Given the description of an element on the screen output the (x, y) to click on. 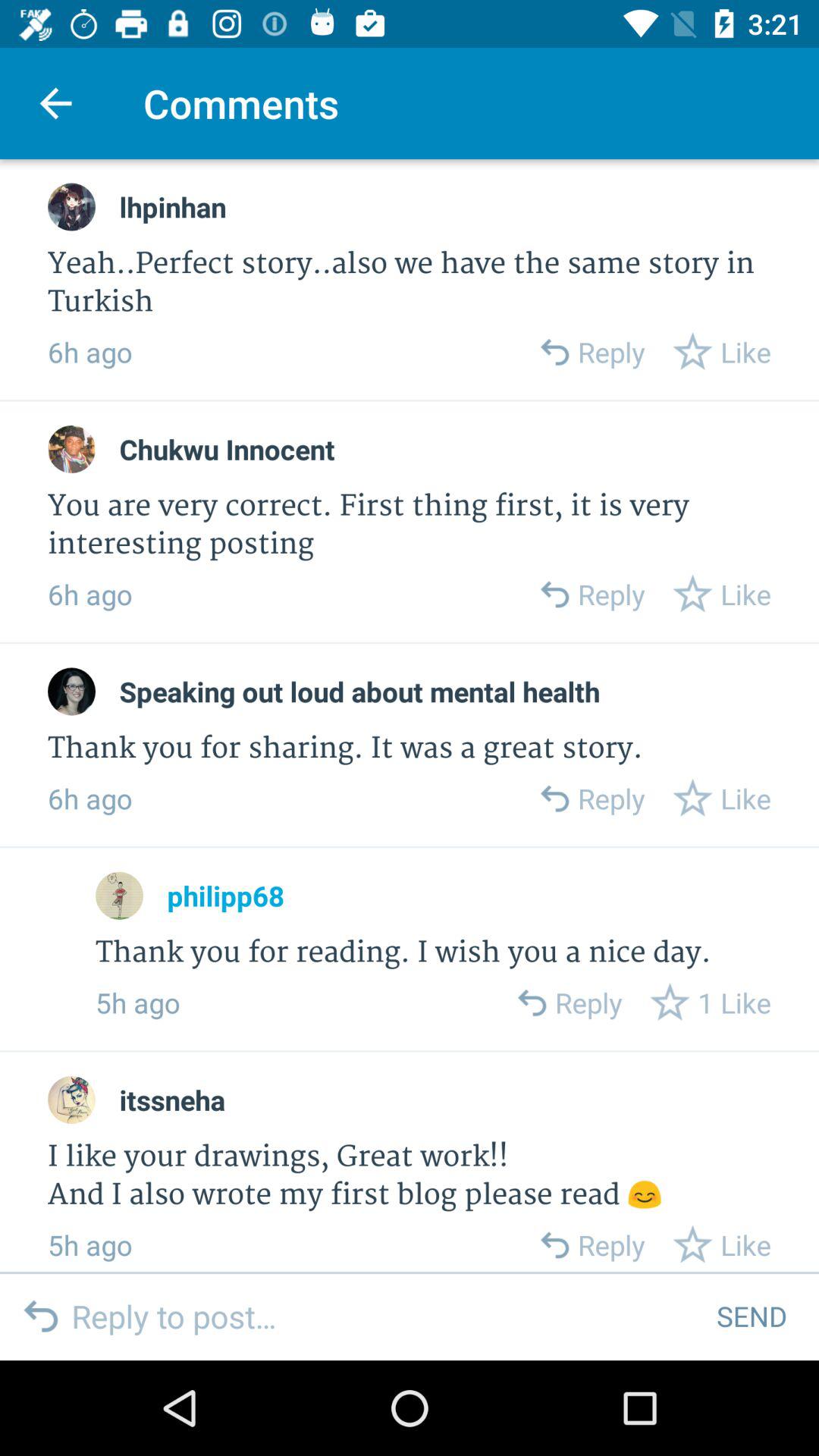
reply to comment (553, 798)
